Given the description of an element on the screen output the (x, y) to click on. 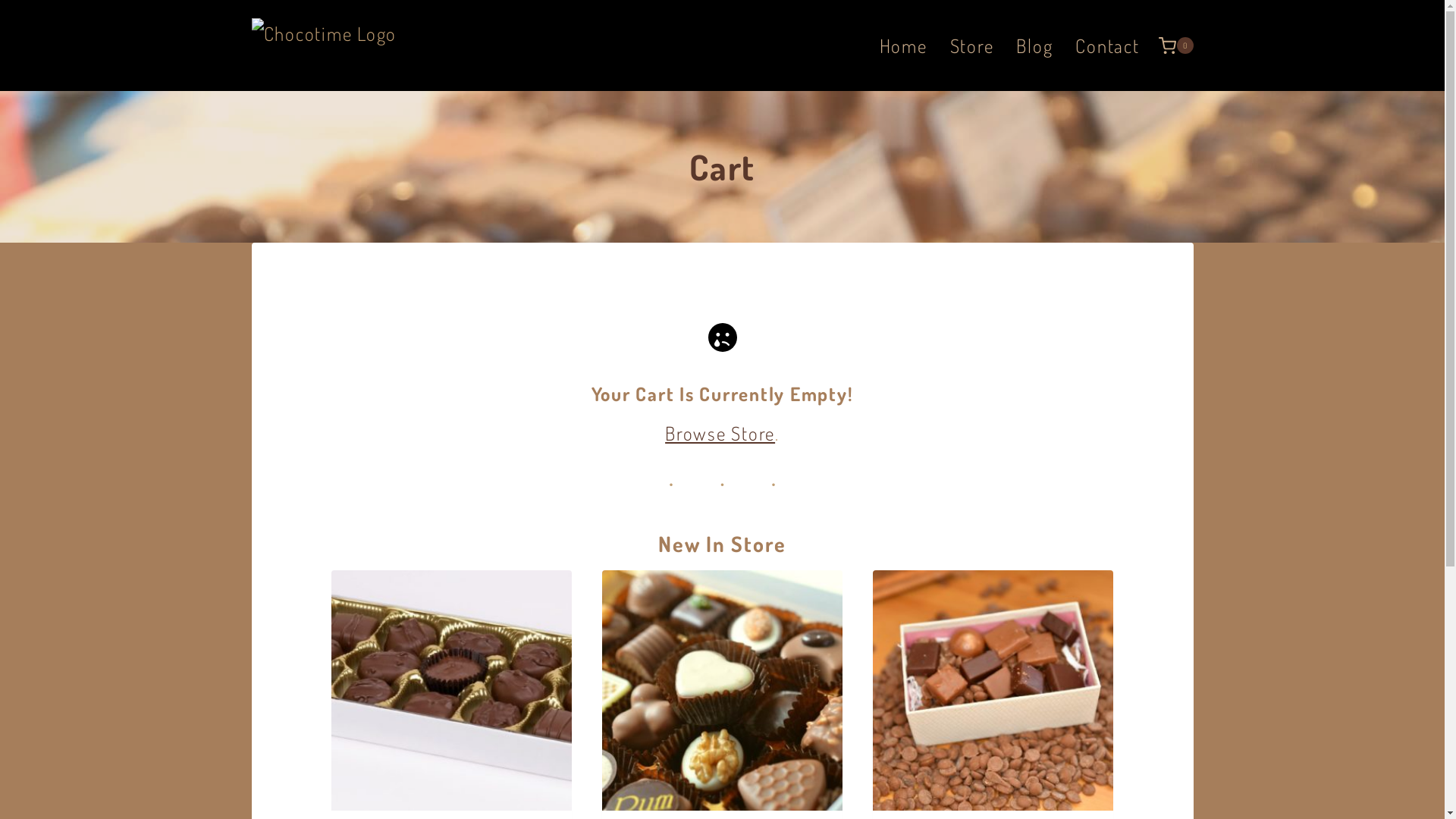
0 Element type: text (1175, 44)
Store Element type: text (971, 45)
Browse Store Element type: text (720, 432)
Blog Element type: text (1033, 45)
Home Element type: text (903, 45)
Contact Element type: text (1106, 45)
